Given the description of an element on the screen output the (x, y) to click on. 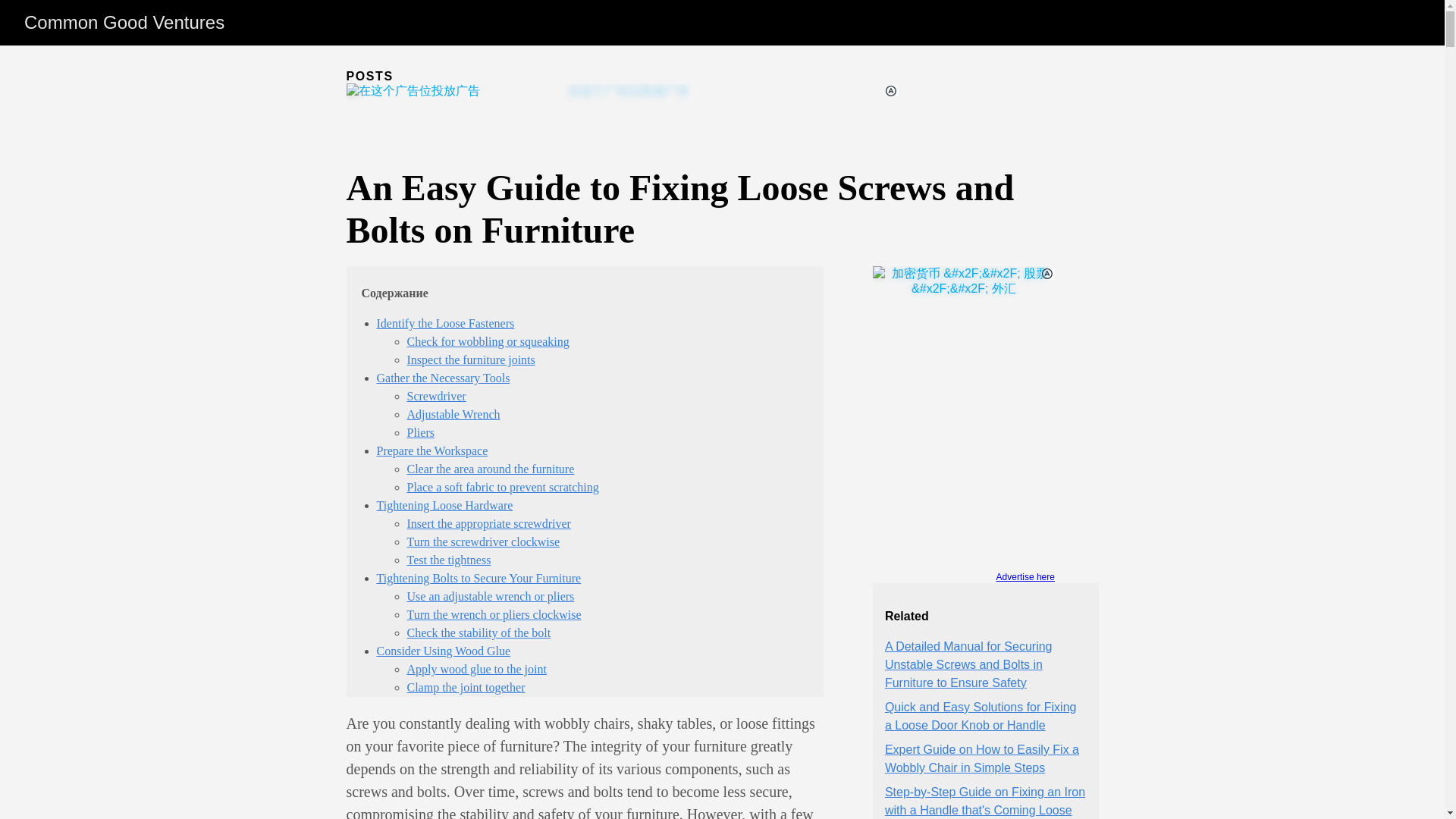
Screwdriver (435, 395)
Inspect the furniture joints (470, 359)
Prepare the Workspace (431, 450)
Test the tightness (448, 559)
Identify the Loose Fasteners (444, 323)
Common Good Ventures (124, 22)
Adjustable Wrench (452, 413)
Check for wobbling or squeaking (487, 341)
